Given the description of an element on the screen output the (x, y) to click on. 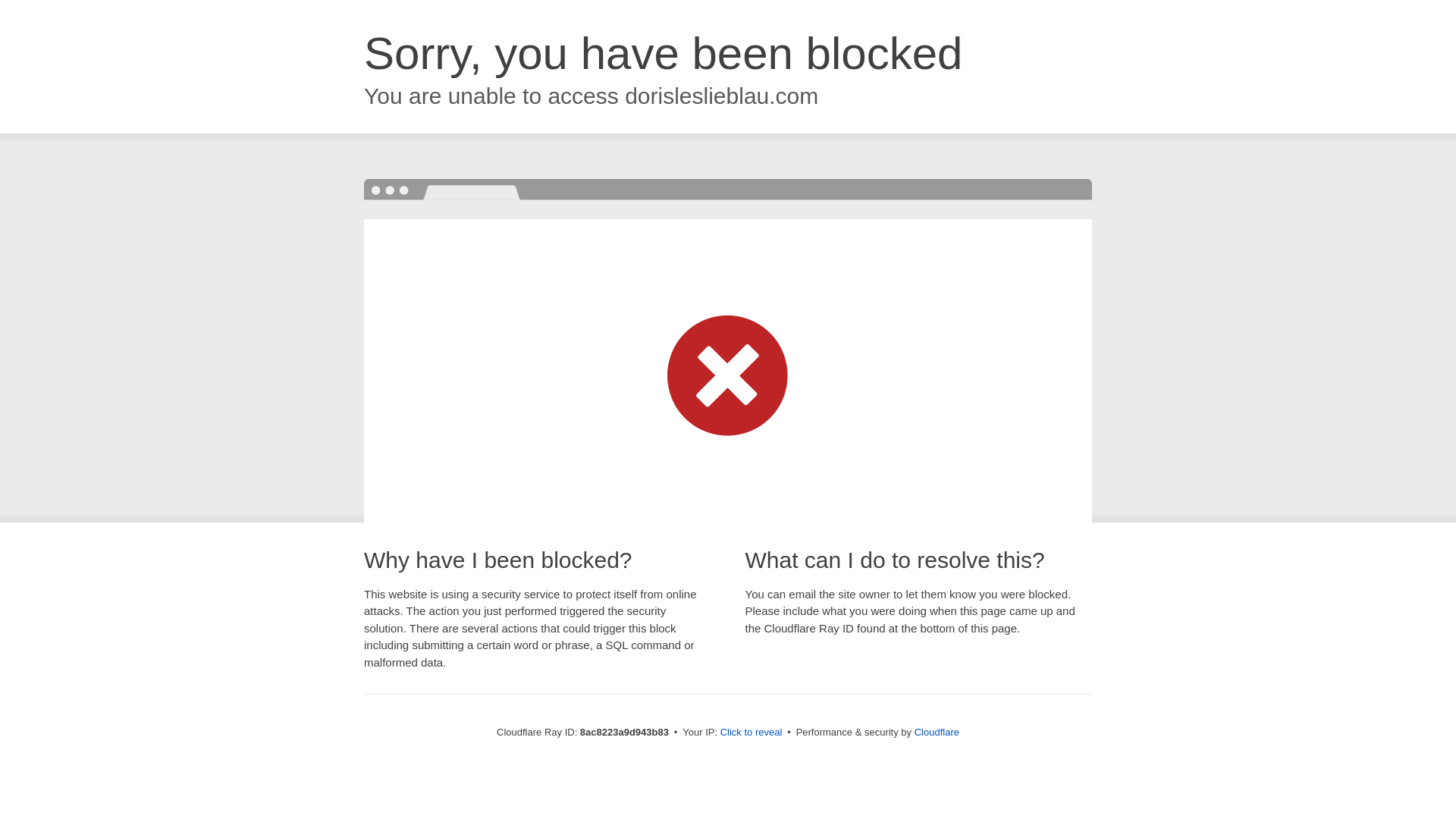
Click to reveal (751, 732)
Cloudflare (936, 731)
